Given the description of an element on the screen output the (x, y) to click on. 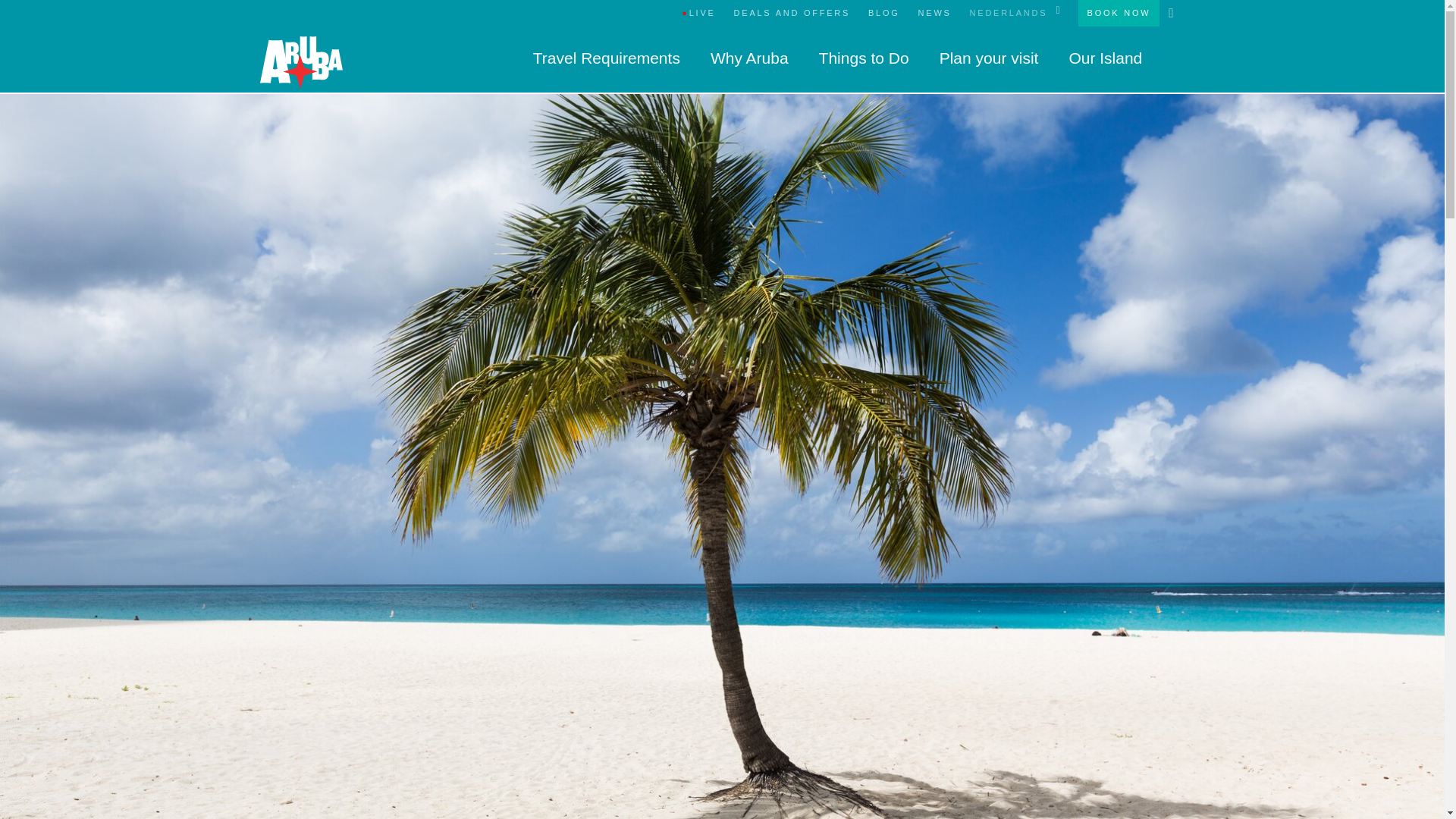
DEALS AND OFFERS (792, 13)
Travel Requirements (605, 57)
NEWS (934, 13)
BOOK NOW (1119, 13)
BLOG (883, 13)
Things to Do (863, 57)
Why Aruba (749, 57)
